Given the description of an element on the screen output the (x, y) to click on. 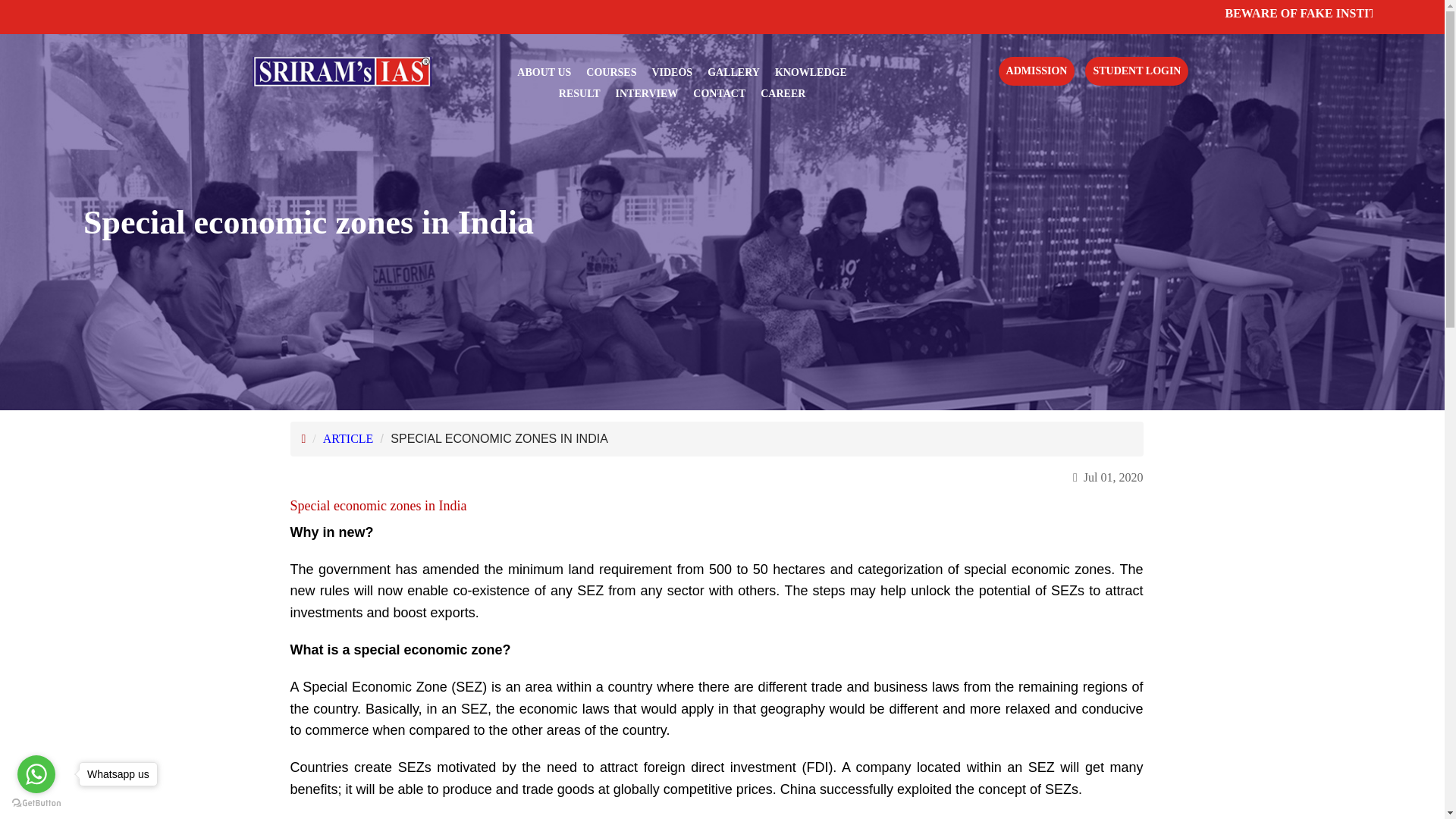
VIDEOS (671, 72)
ADMISSION (1036, 70)
GALLERY (733, 72)
KNOWLEDGE (810, 72)
RESULT (579, 93)
INTERVIEW (646, 93)
CONTACT (719, 93)
STUDENT LOGIN (1136, 70)
ABOUT US (543, 72)
COURSES (611, 72)
CAREER (782, 93)
ARTICLE (348, 438)
